Given the description of an element on the screen output the (x, y) to click on. 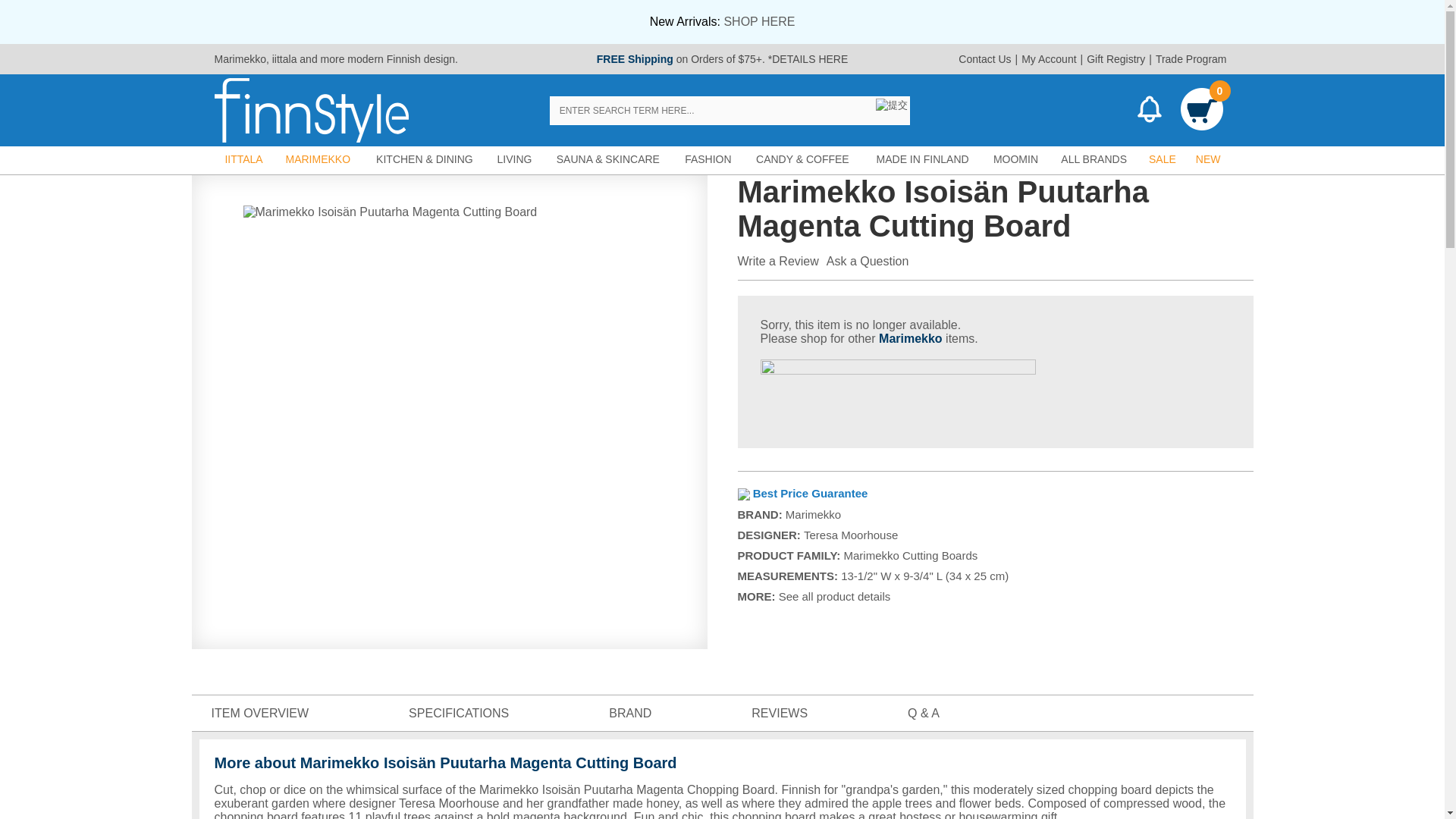
SALE (1162, 159)
Contact Us (984, 59)
SHOP HERE (758, 21)
NEW (1208, 159)
Trade Program (1190, 59)
My Account (1048, 59)
LIVING (514, 159)
MOOMIN (1016, 159)
iittala (284, 59)
Marimekko (239, 59)
IITTALA (242, 159)
MARIMEKKO (318, 159)
0 (1201, 110)
Gift Registry (1115, 59)
ALL BRANDS (1094, 159)
